Given the description of an element on the screen output the (x, y) to click on. 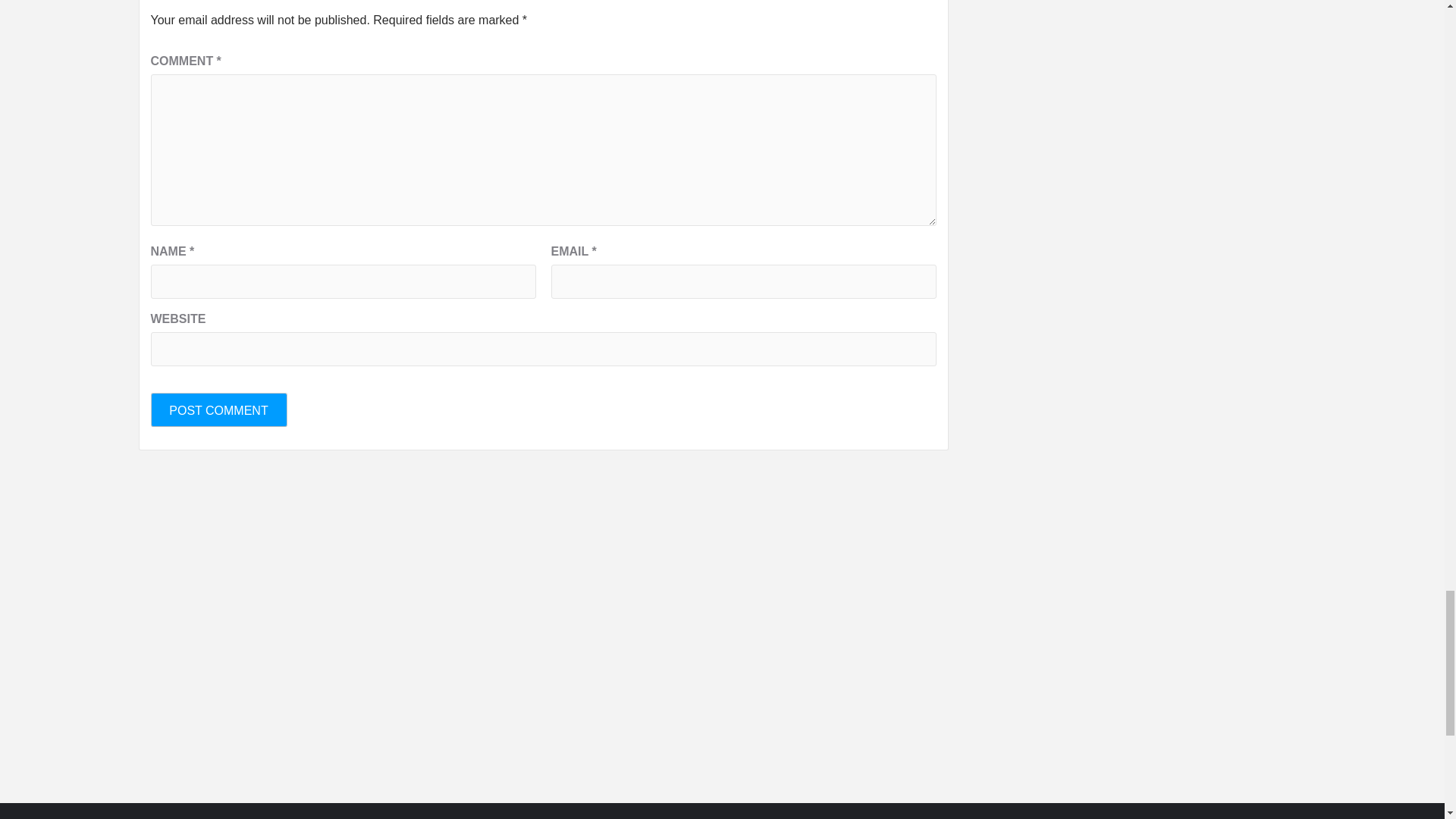
Post Comment (217, 409)
